Given the description of an element on the screen output the (x, y) to click on. 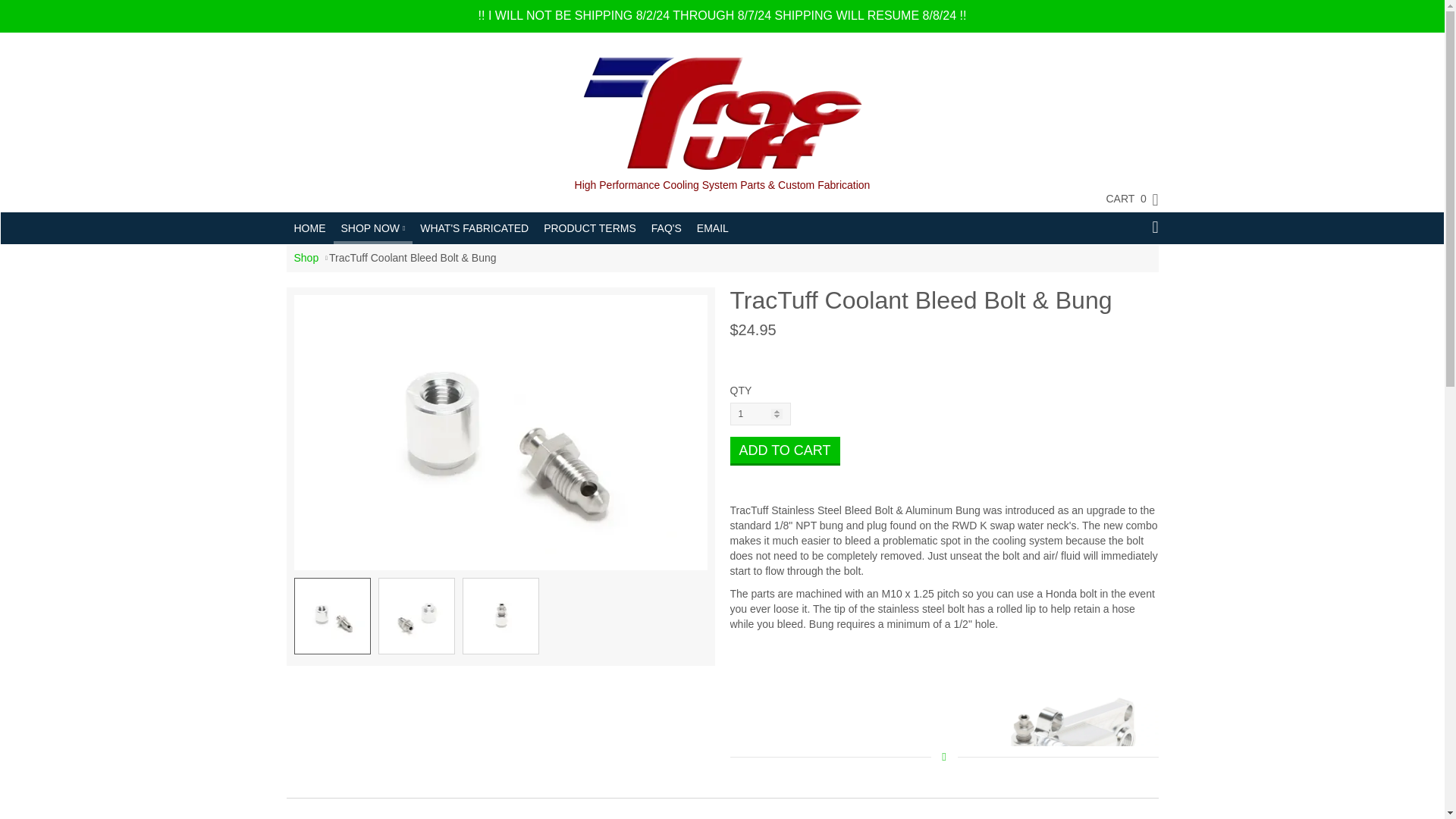
HOME (309, 228)
PRODUCT TERMS (589, 228)
Shop (306, 257)
FAQ'S (665, 228)
SHOP NOW (373, 226)
EMAIL (712, 228)
WHAT'S FABRICATED (473, 228)
Add to Cart (784, 451)
1 (759, 413)
CART  0   (1123, 198)
Add to Cart (784, 451)
